Given the description of an element on the screen output the (x, y) to click on. 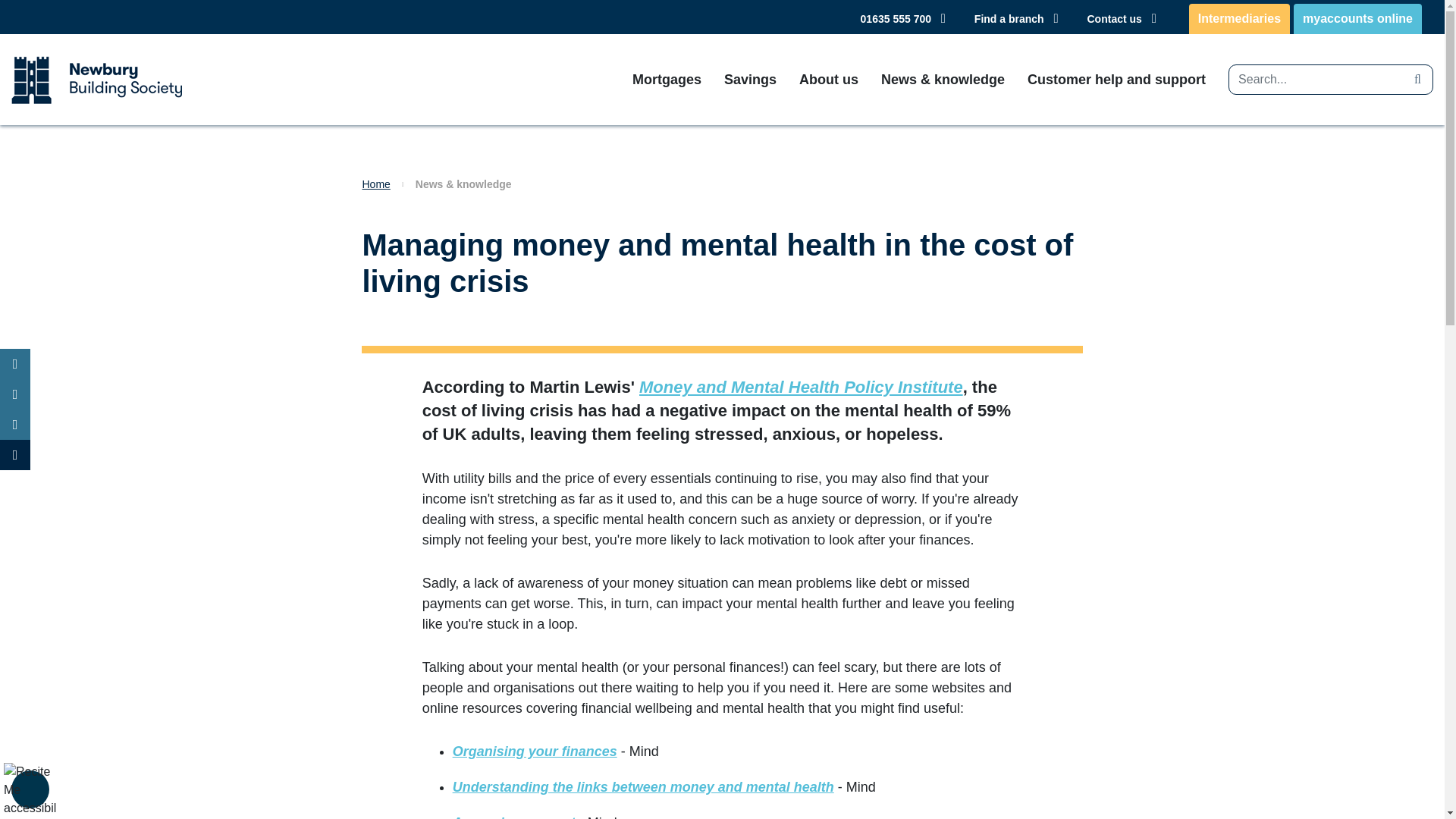
Launch Recite Me (30, 788)
Launch Recite Me (30, 789)
Mortgages (655, 78)
